Given the description of an element on the screen output the (x, y) to click on. 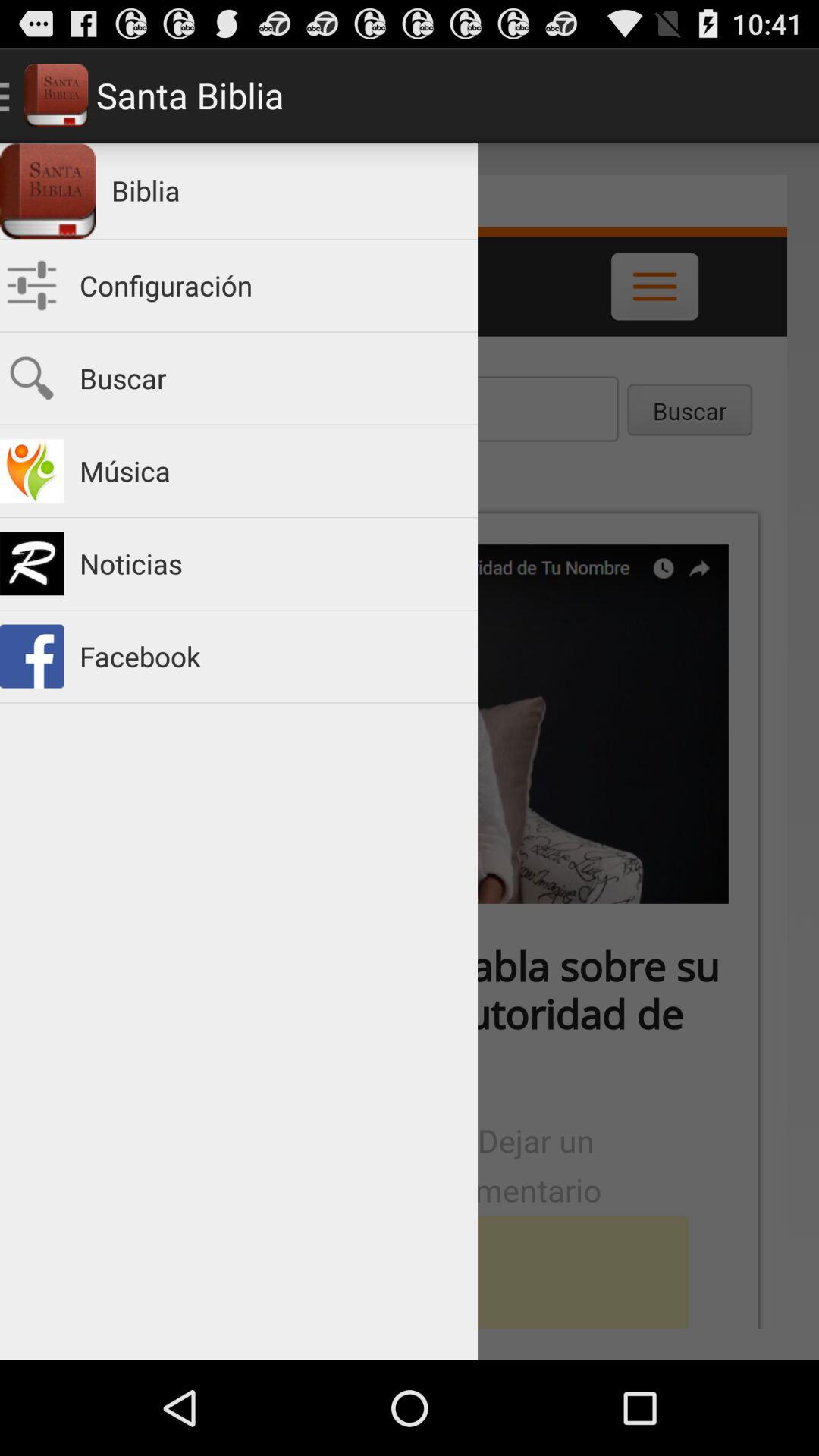
press app below the noticias icon (270, 656)
